Given the description of an element on the screen output the (x, y) to click on. 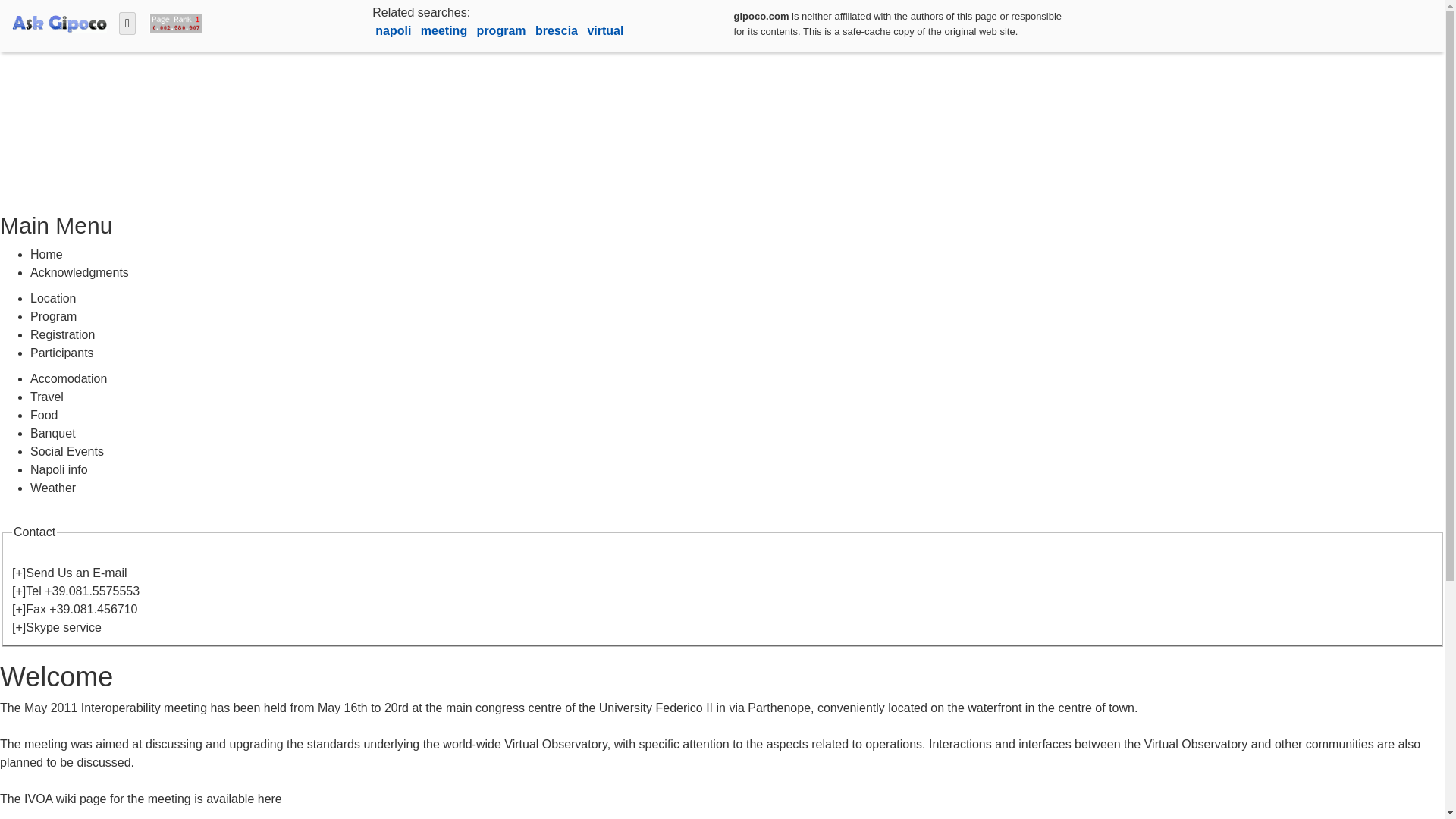
free experimental uncensored search engine - home page (58, 21)
meeting (445, 30)
virtual (604, 30)
napoli (394, 30)
brescia (557, 30)
program (503, 30)
napoli (394, 30)
meeting (445, 30)
brescia (557, 30)
view page-rank and visitors counter and free website stats (172, 21)
